Given the description of an element on the screen output the (x, y) to click on. 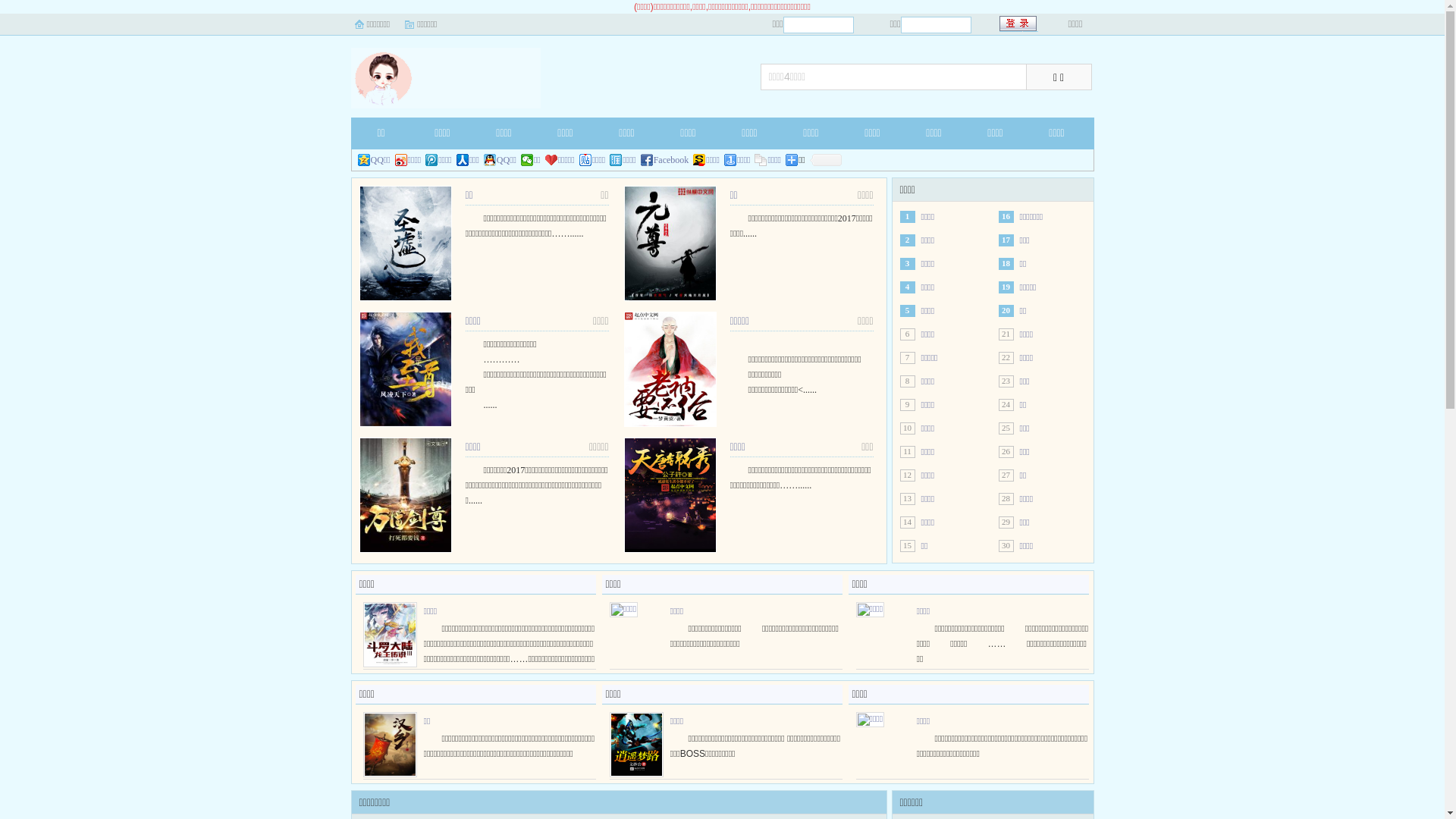
Facebook Element type: text (664, 159)
